Given the description of an element on the screen output the (x, y) to click on. 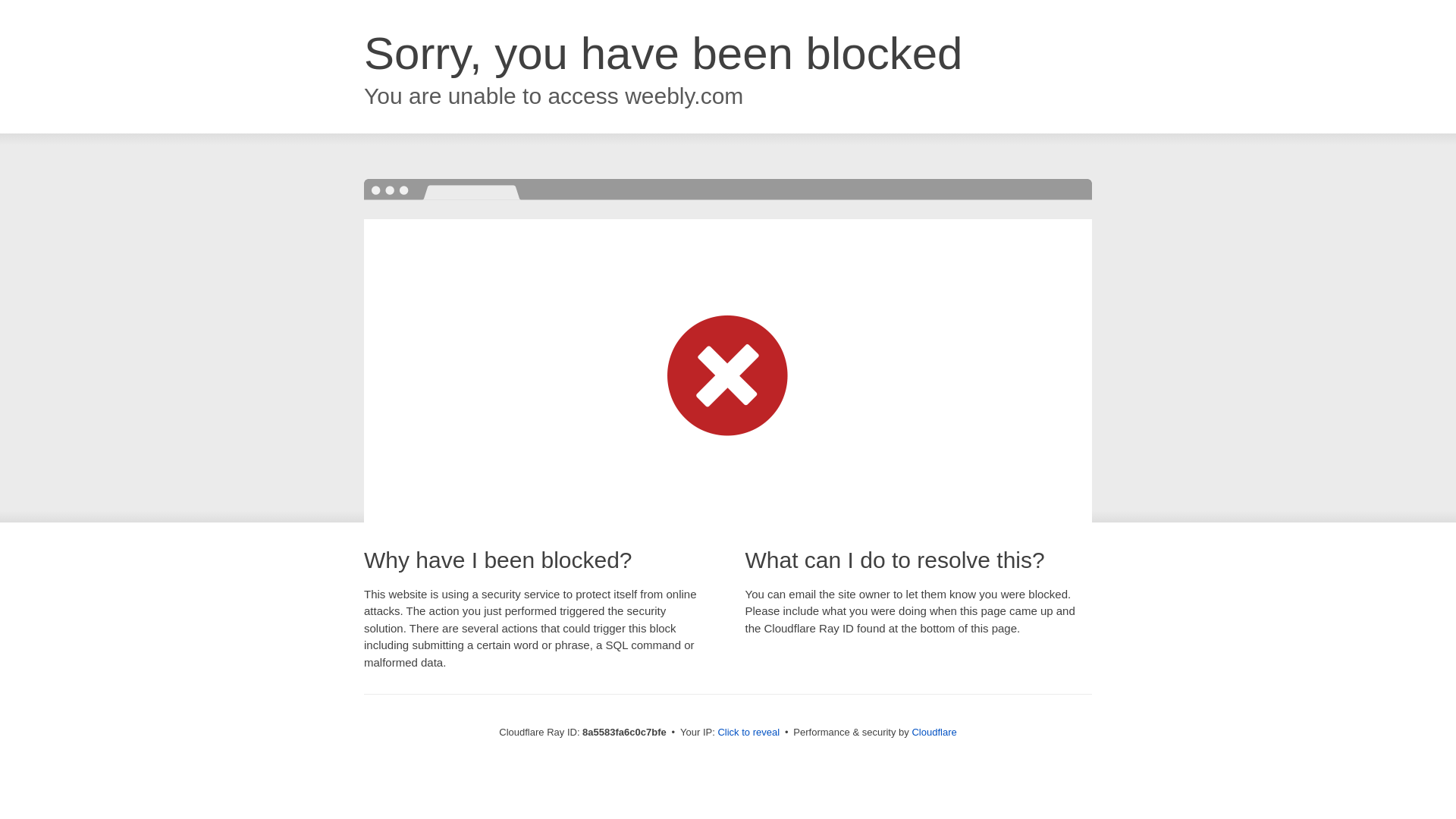
Cloudflare (933, 731)
Click to reveal (747, 732)
